Given the description of an element on the screen output the (x, y) to click on. 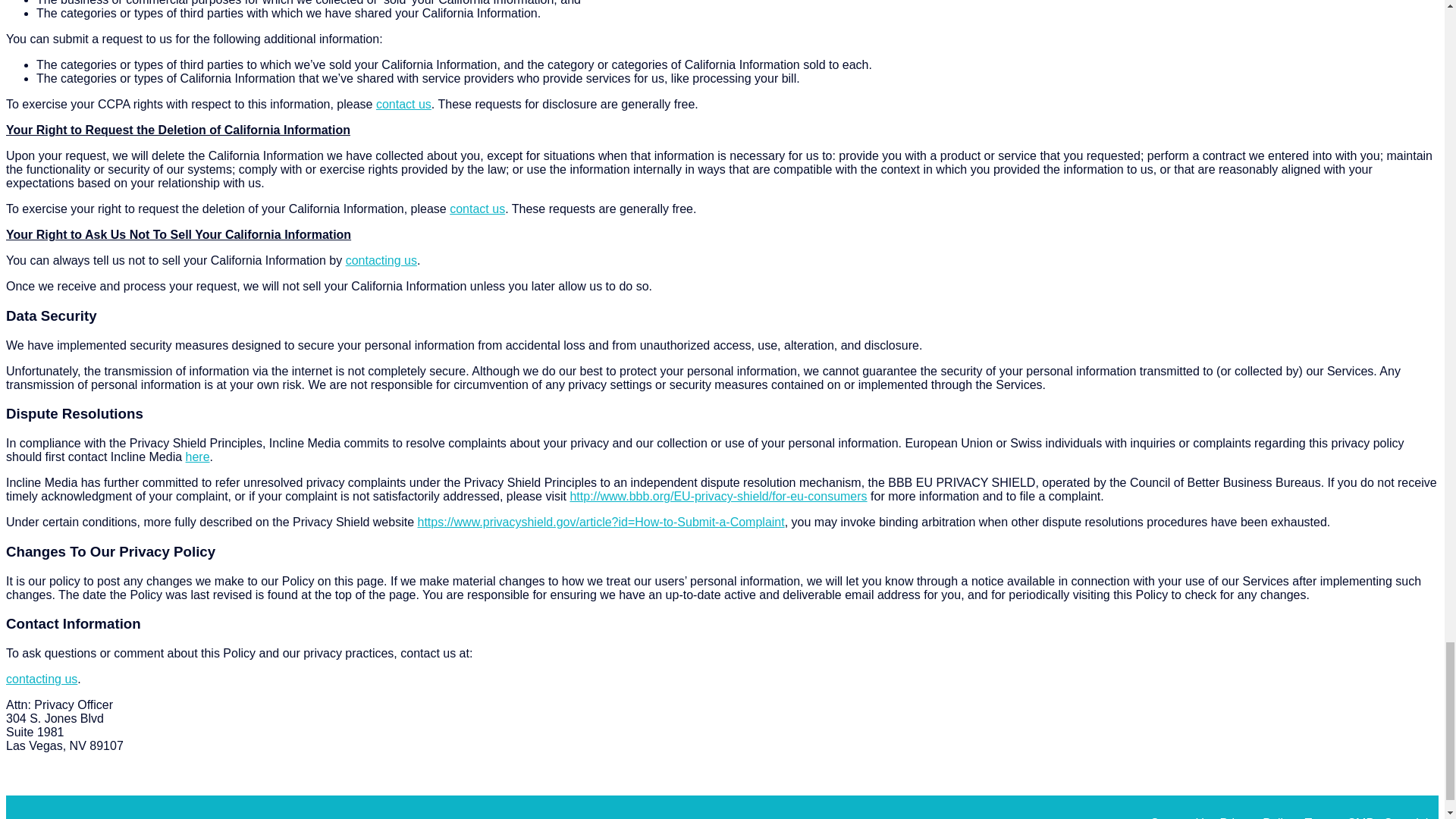
CMP (1360, 816)
contacting us (41, 678)
Terms (1320, 816)
contact us (477, 208)
here (197, 456)
Contact Us (1179, 816)
Privacy Policy (1256, 816)
contact us (402, 103)
contacting us (381, 259)
